Given the description of an element on the screen output the (x, y) to click on. 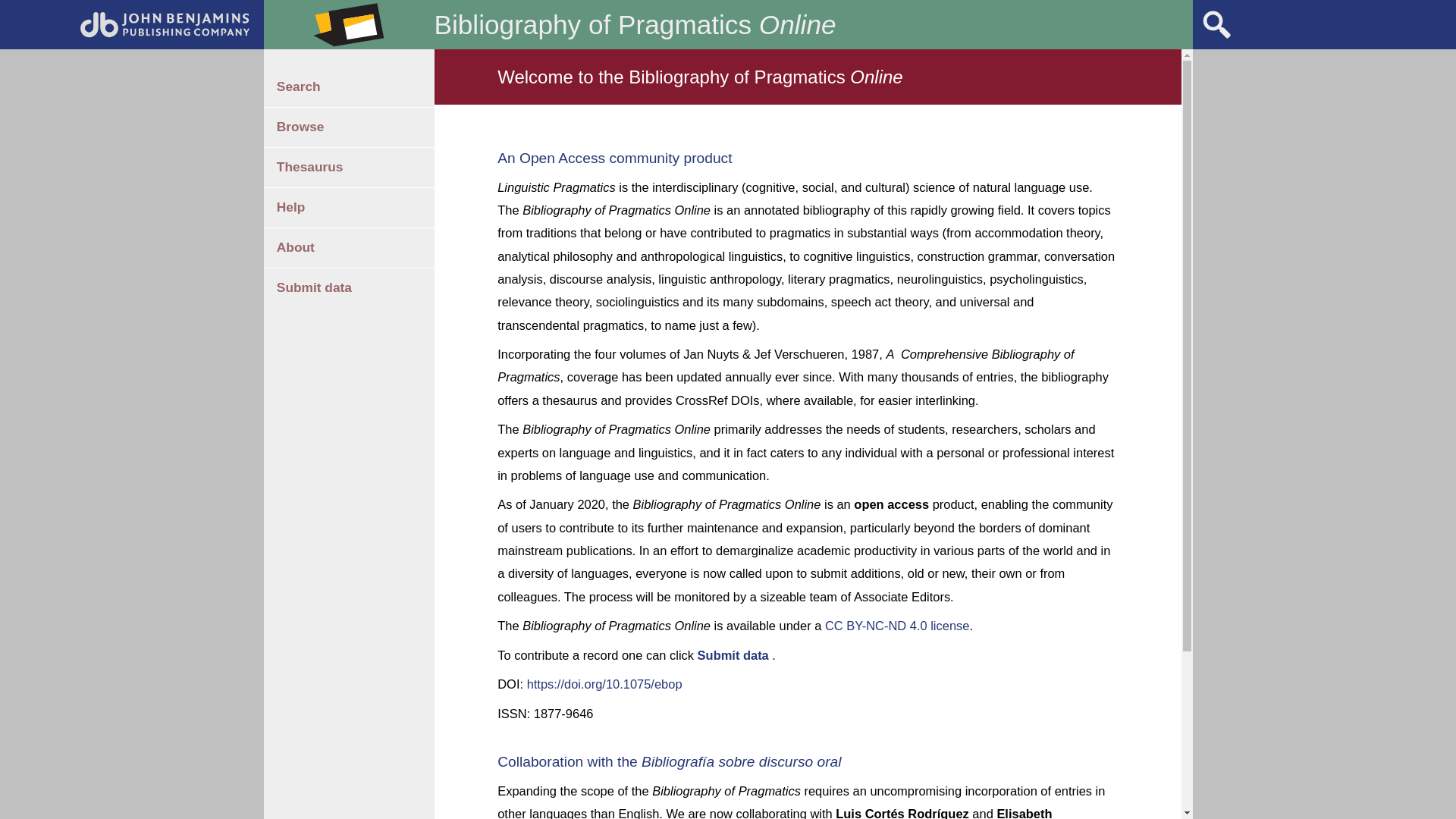
Help (348, 207)
Thesaurus (348, 167)
Bibliography of Pragmatics Online (638, 24)
About (348, 247)
Search (348, 87)
Go to the data entry site (348, 287)
Browse (348, 127)
CC BY-NC-ND 4.0 license (897, 625)
Search the bibliography (1216, 38)
Submit data (348, 287)
Submit data (732, 654)
To the Publishers' catalog (165, 32)
